Given the description of an element on the screen output the (x, y) to click on. 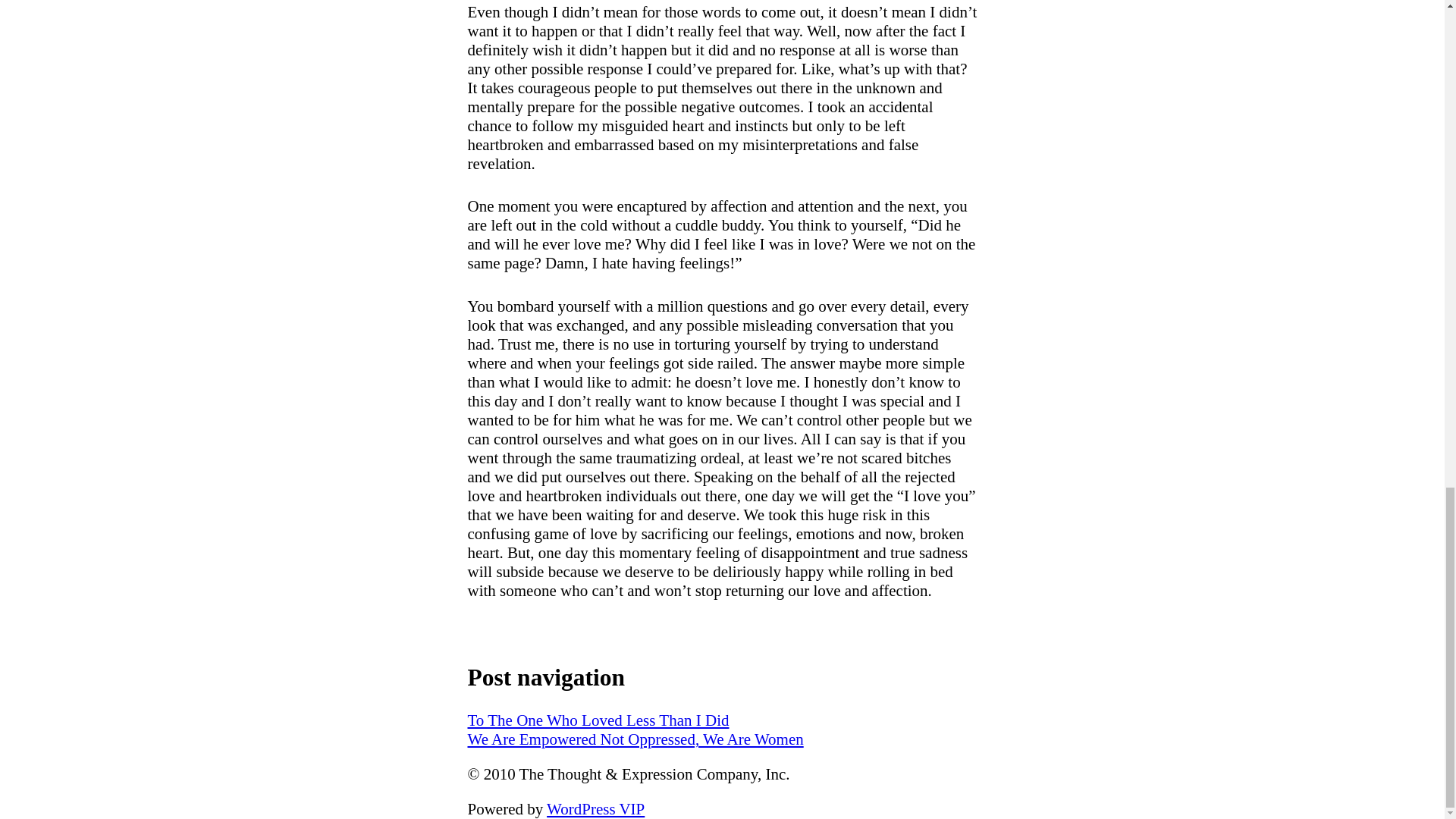
WordPress VIP (596, 809)
To The One Who Loved Less Than I Did (598, 720)
We Are Empowered Not Oppressed, We Are Women (635, 739)
